Given the description of an element on the screen output the (x, y) to click on. 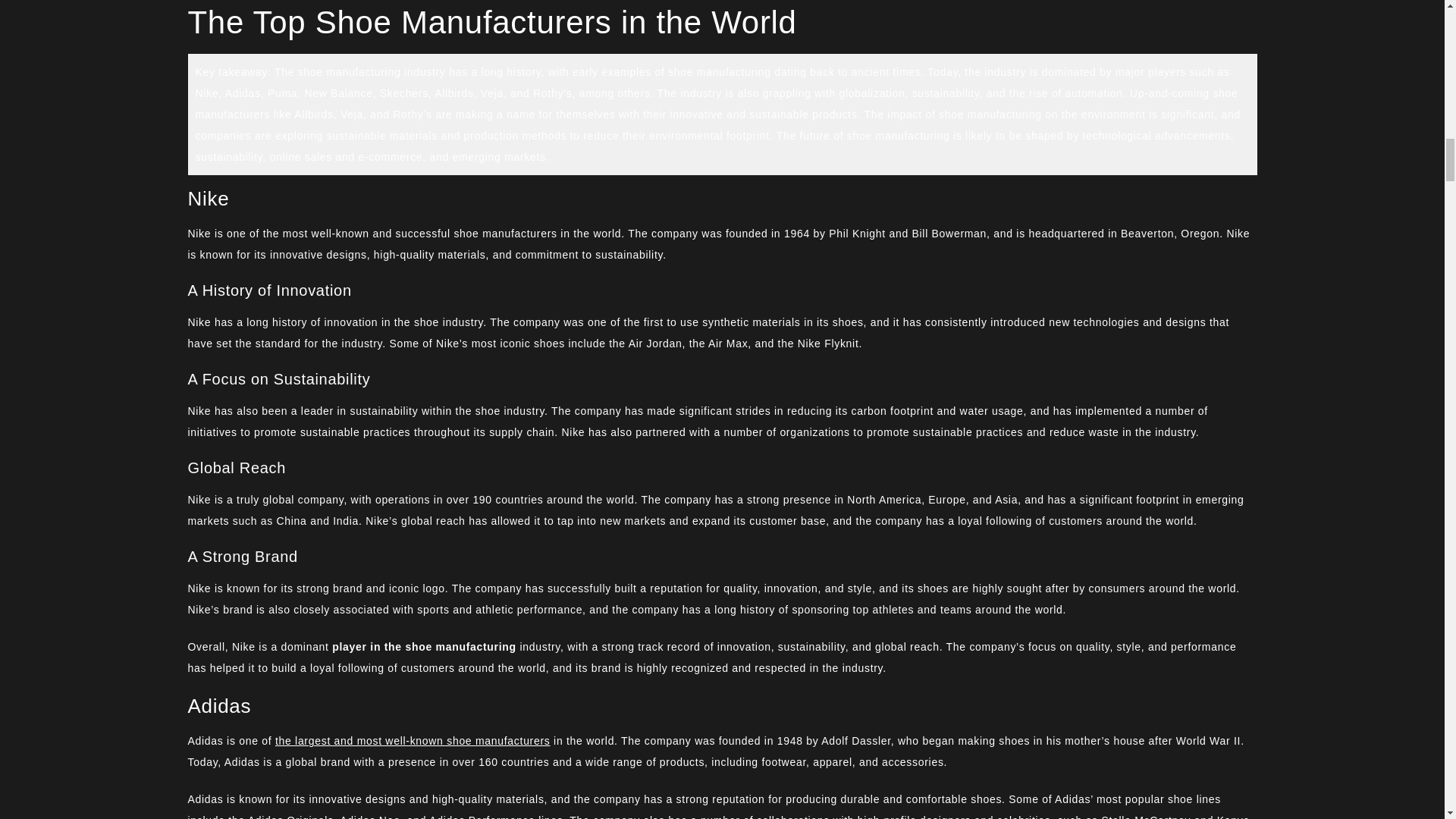
the largest and most well-known shoe manufacturers (412, 740)
